Given the description of an element on the screen output the (x, y) to click on. 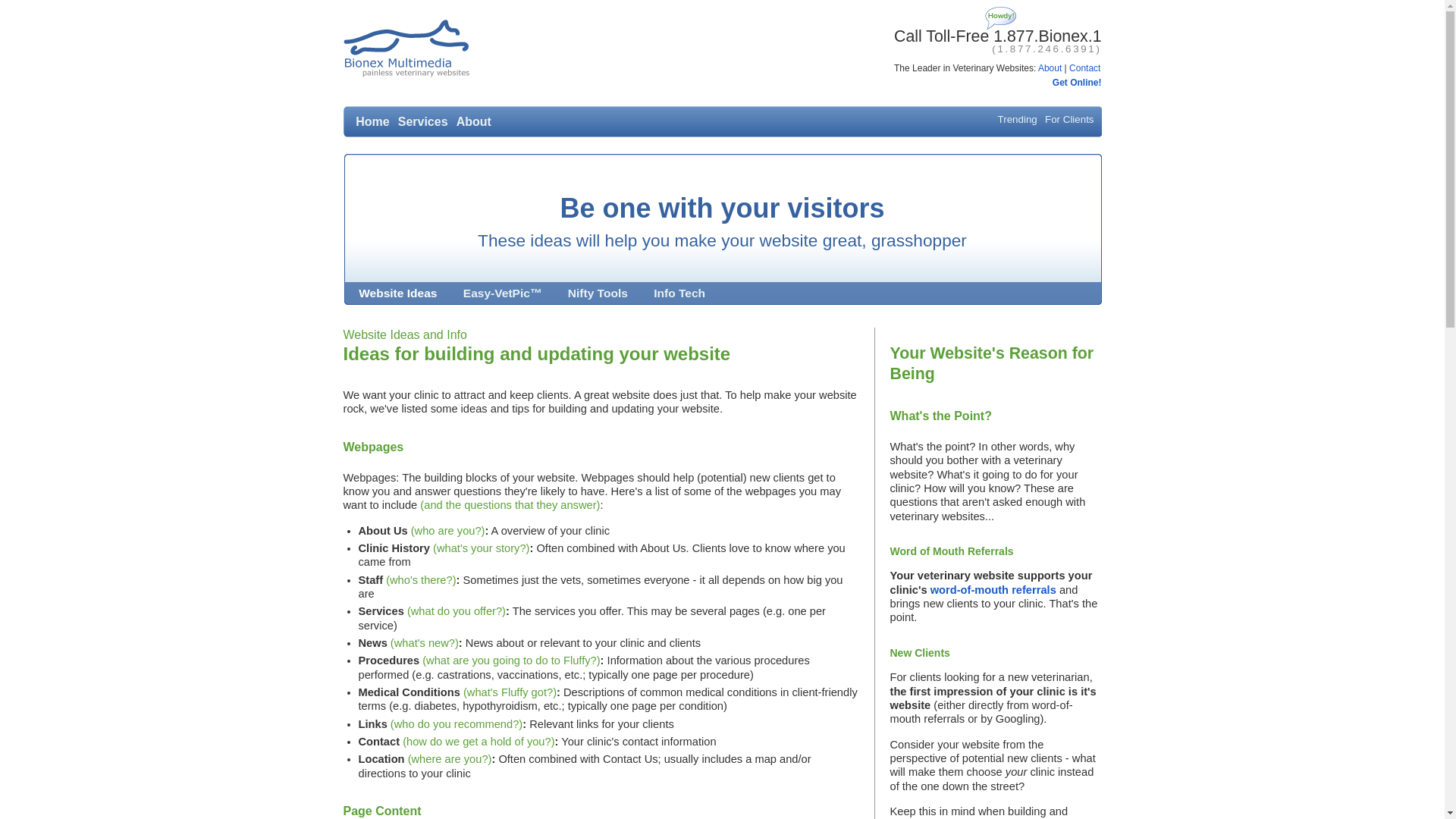
About Element type: text (473, 121)
Trending Element type: text (1017, 119)
For Clients Element type: text (1068, 119)
Website Ideas Element type: text (397, 293)
Home Element type: text (372, 121)
Info Tech Element type: text (679, 293)
word-of-mouth referrals Element type: text (993, 589)
Bionex Multimedia: Simple Veterinary Website Design! Element type: hover (405, 48)
Get Online! Element type: text (1076, 82)
About Element type: text (1049, 67)
Services Element type: text (423, 121)
Contact Element type: text (1084, 67)
Nifty Tools Element type: text (597, 293)
